Given the description of an element on the screen output the (x, y) to click on. 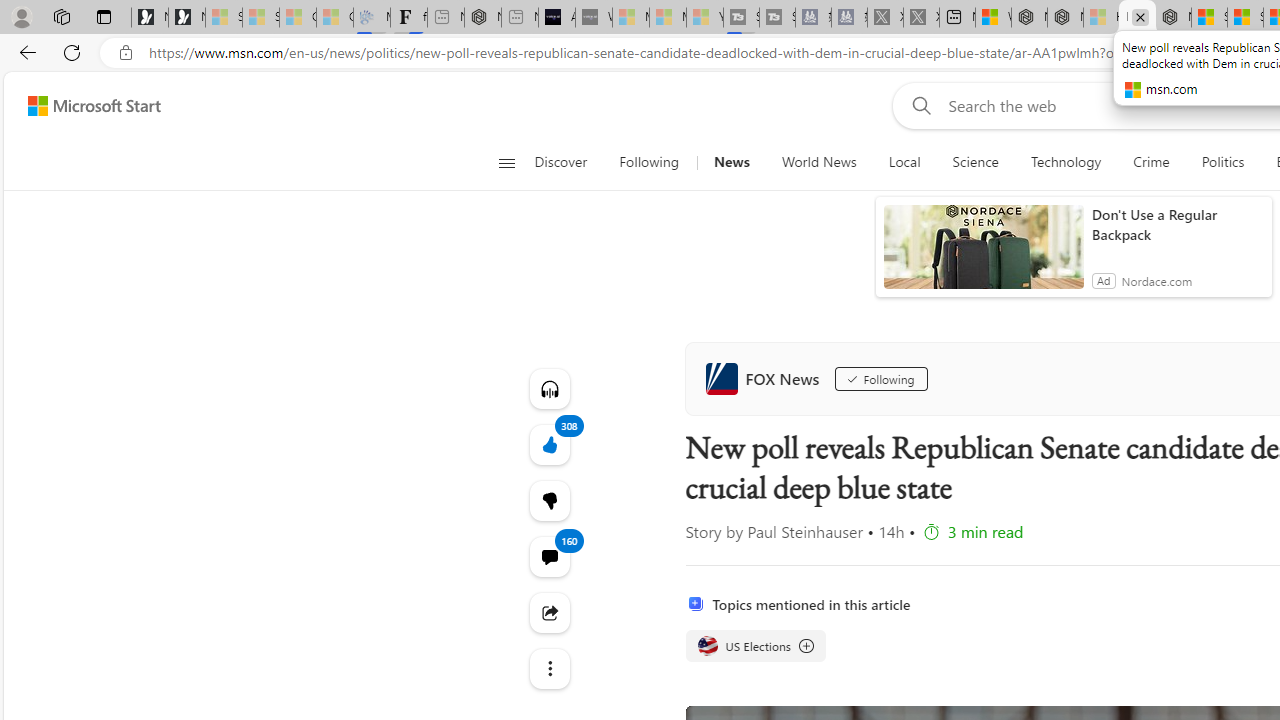
US Elections US Elections US Elections (754, 645)
anim-content (983, 255)
AI Voice Changer for PC and Mac - Voice.ai (556, 17)
Web search (917, 105)
Politics (1222, 162)
Skip to footer (82, 105)
Local (904, 162)
Politics (1222, 162)
